Given the description of an element on the screen output the (x, y) to click on. 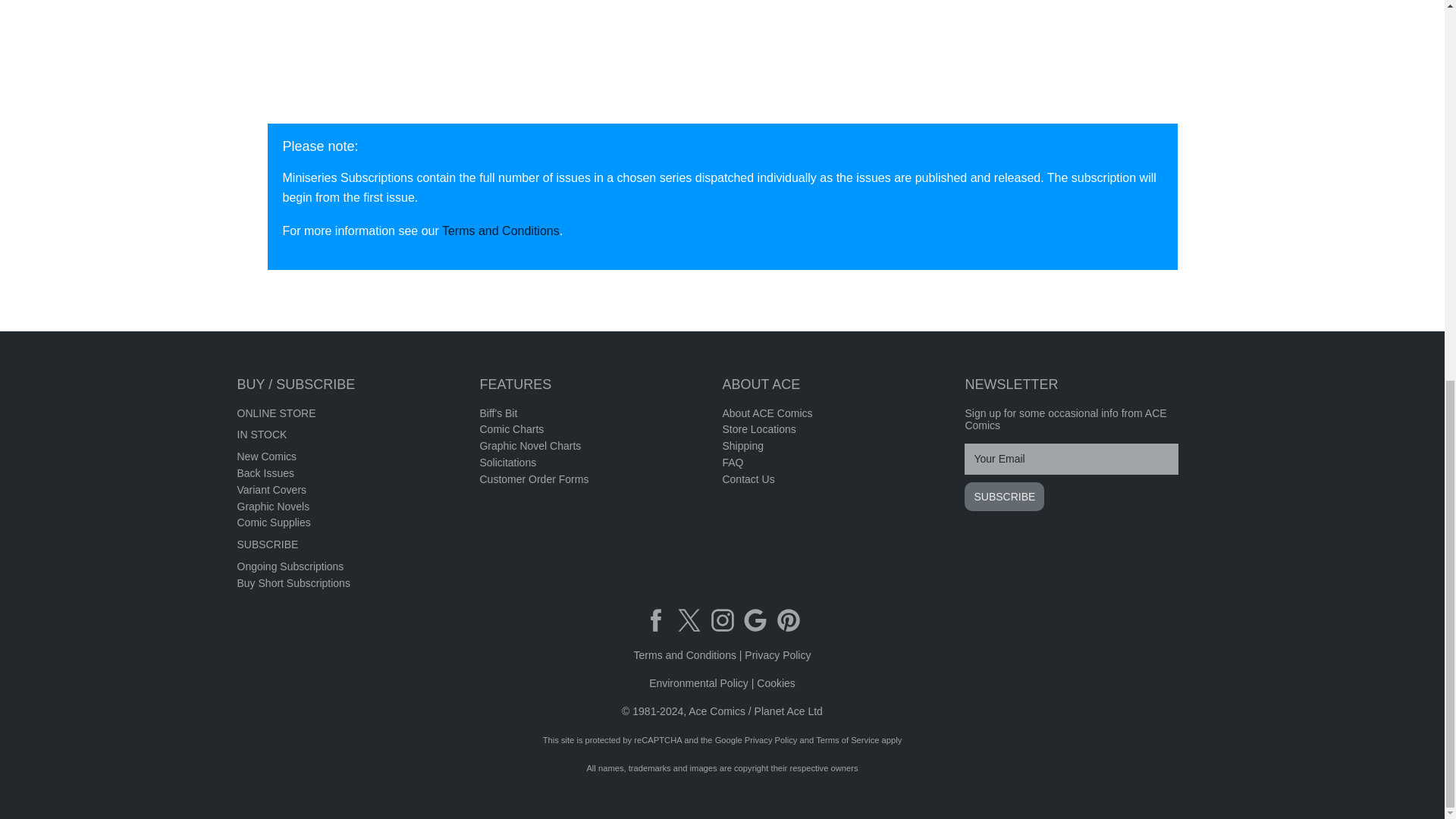
Variant Covers (270, 490)
ONLINE STORE (275, 413)
Biff's Bit (497, 413)
Ongoing Subscriptions (289, 566)
Subscribe (1003, 496)
New Comics (266, 456)
Buy Short Subscriptions (292, 582)
Your Email (1070, 459)
Comic Charts (511, 428)
Back Issues (264, 472)
Comic Supplies (272, 522)
Graphic Novels (271, 506)
Terms and Conditions (500, 230)
